Given the description of an element on the screen output the (x, y) to click on. 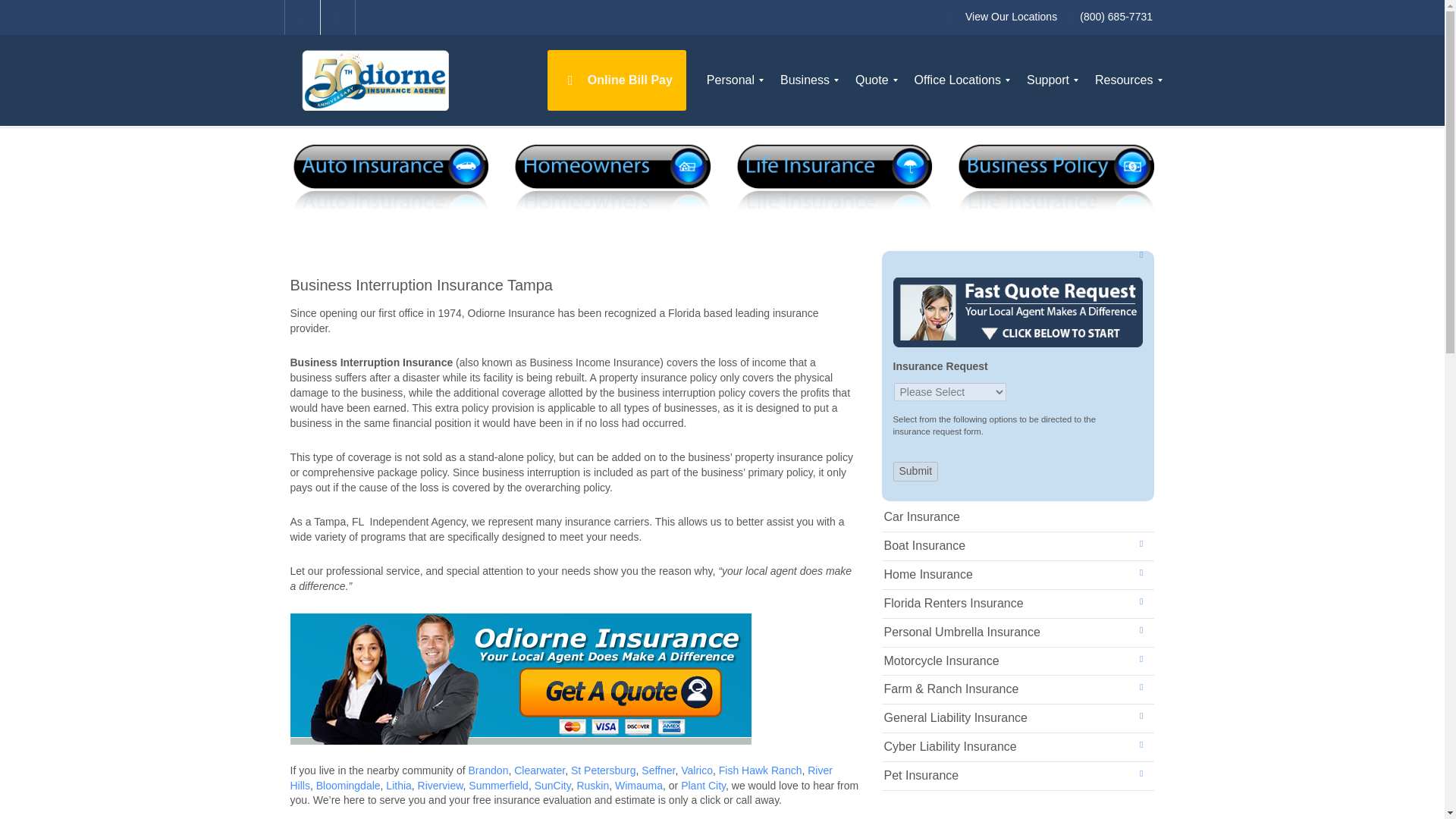
Individual Life Insurance (833, 176)
Quote (872, 79)
Online Bill Pay (616, 79)
Business Owners Policy (1054, 176)
Homeowners Request (611, 176)
View Our Locations (1011, 16)
Personal (730, 79)
fast-quote-request (1017, 312)
Submit (916, 471)
Odiorne Insurance (379, 79)
Business (805, 79)
